Given the description of an element on the screen output the (x, y) to click on. 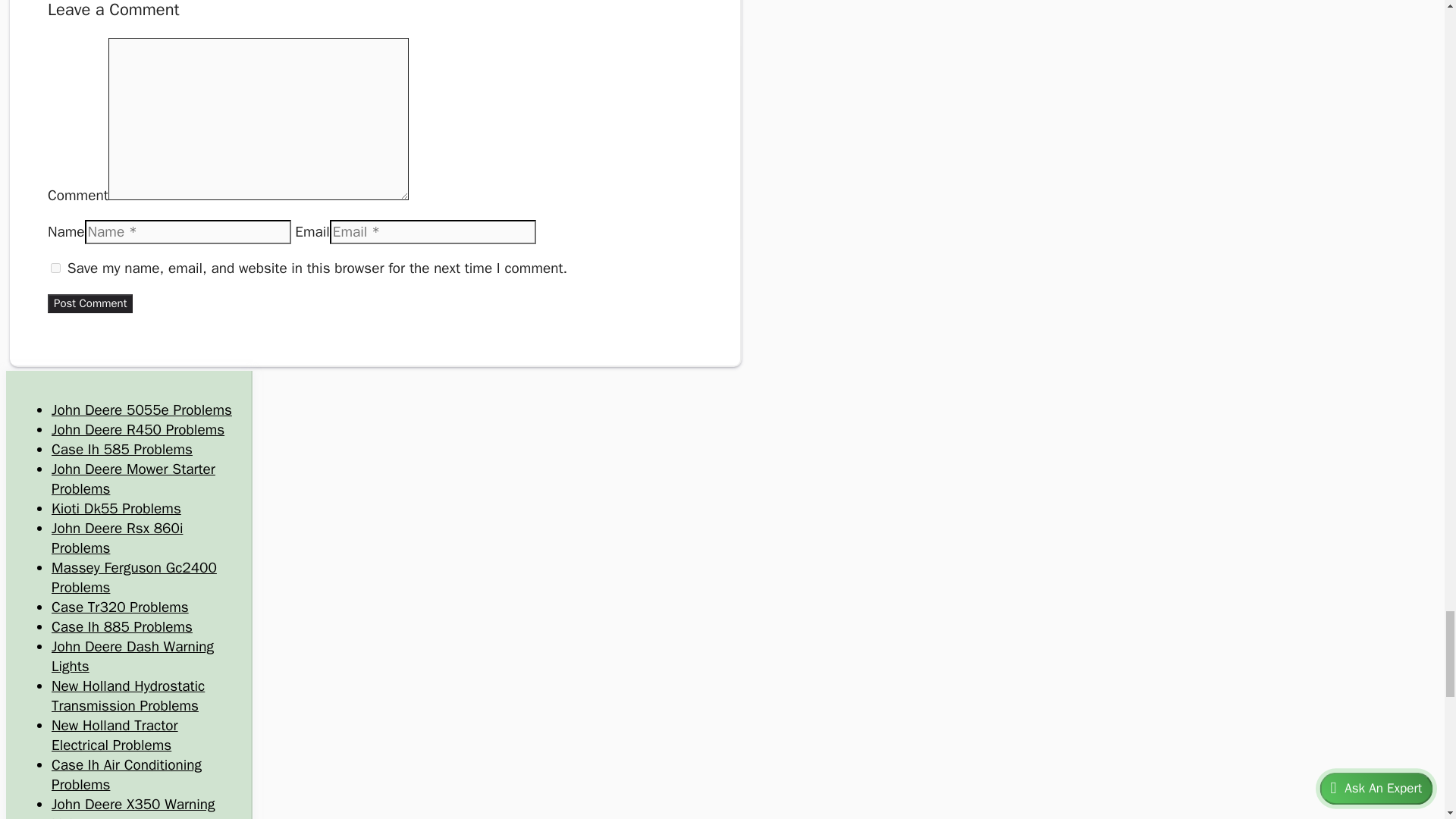
John Deere 5055e Problems (140, 410)
Case Ih 585 Problems (121, 449)
John Deere R450 Problems (137, 429)
yes (55, 267)
Post Comment (90, 303)
Post Comment (90, 303)
John Deere Mower Starter Problems (132, 478)
